Given the description of an element on the screen output the (x, y) to click on. 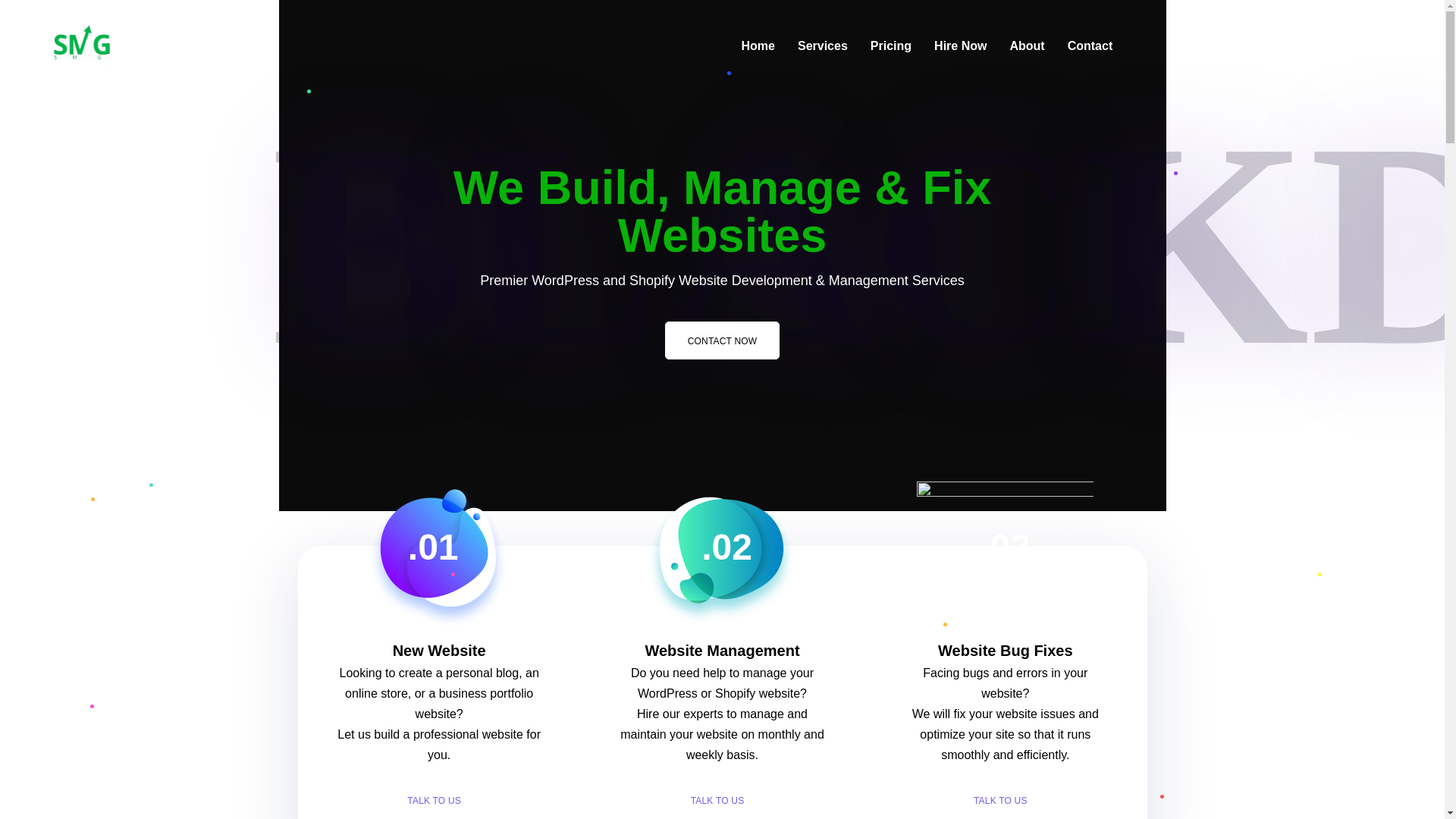
Competitor Analysis (721, 568)
New Website (439, 650)
TALK TO US (1005, 800)
Website Management (722, 650)
Website Bug Fixes (1004, 650)
Social Media Marketing (1005, 568)
TALK TO US (722, 800)
TALK TO US (438, 800)
SEO Consultancy (438, 568)
CONTACT NOW (722, 340)
